Given the description of an element on the screen output the (x, y) to click on. 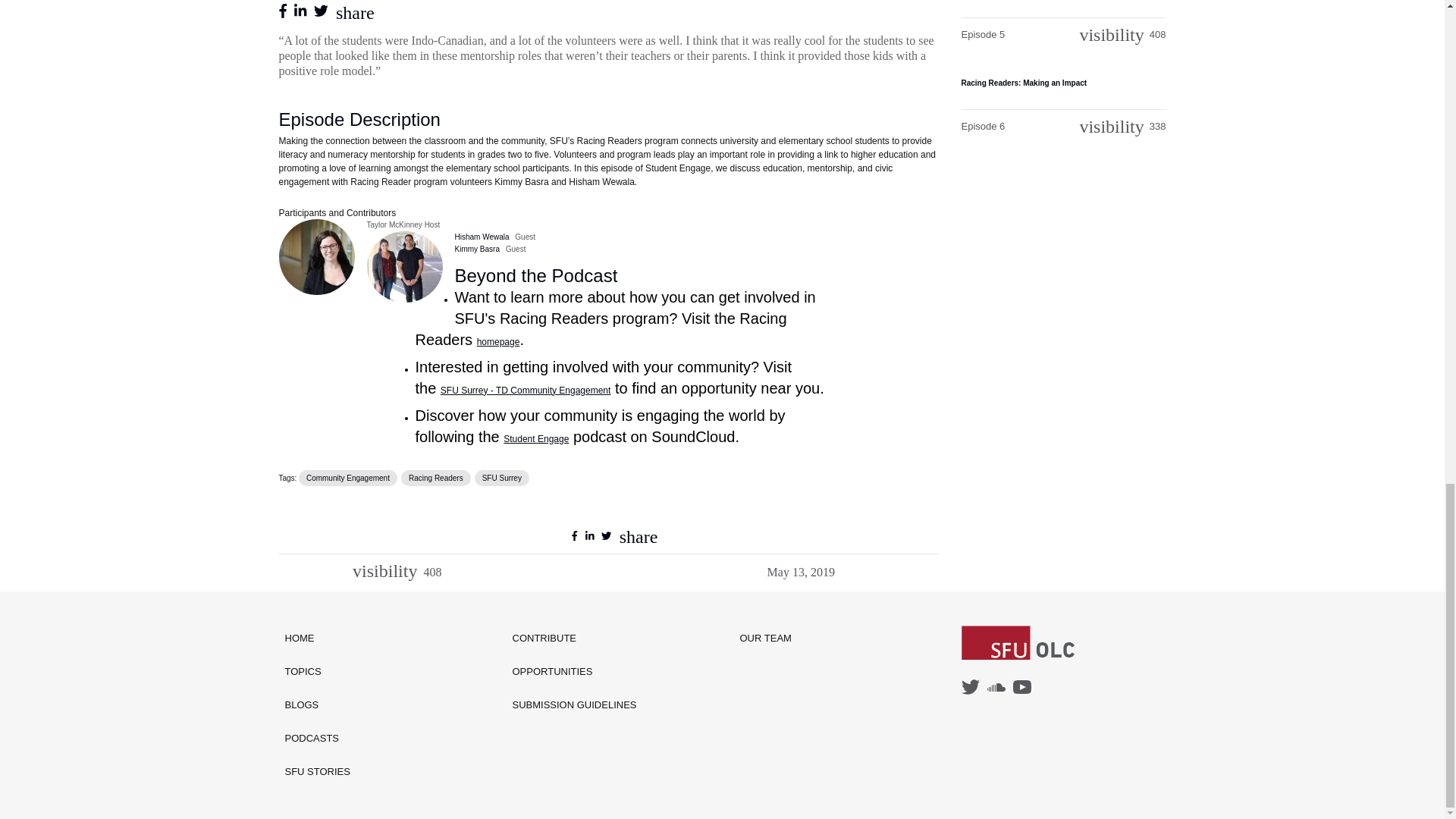
Contribute to the OLC (574, 638)
OLC Blogs (317, 704)
